Given the description of an element on the screen output the (x, y) to click on. 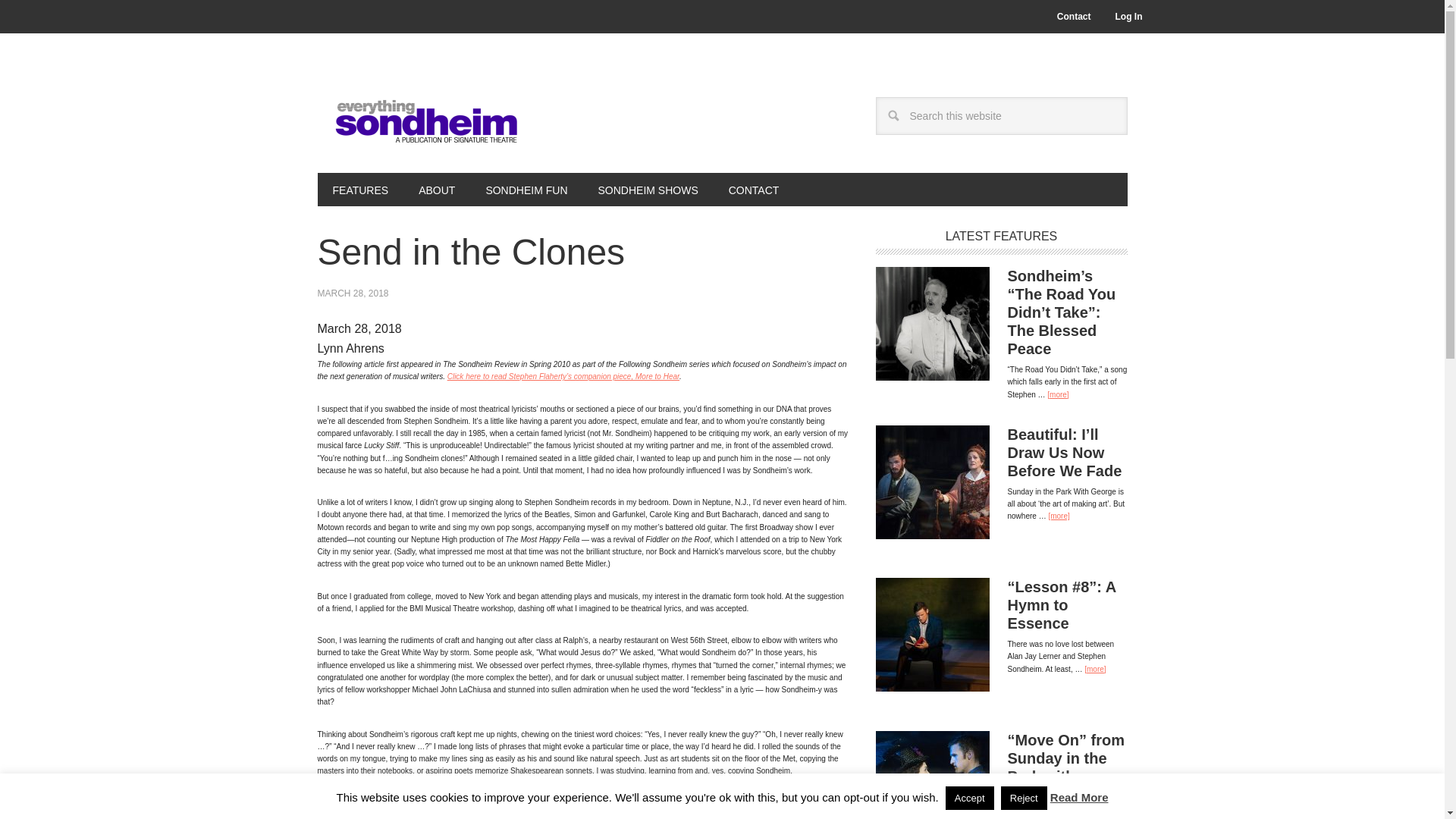
Contact (1074, 16)
SONDHEIM SHOWS (647, 189)
Log In (1128, 16)
FEATURES (360, 189)
SONDHEIM FUN (526, 189)
EVERYTHING SONDHEIM (419, 115)
ABOUT (436, 189)
CONTACT (753, 189)
